Given the description of an element on the screen output the (x, y) to click on. 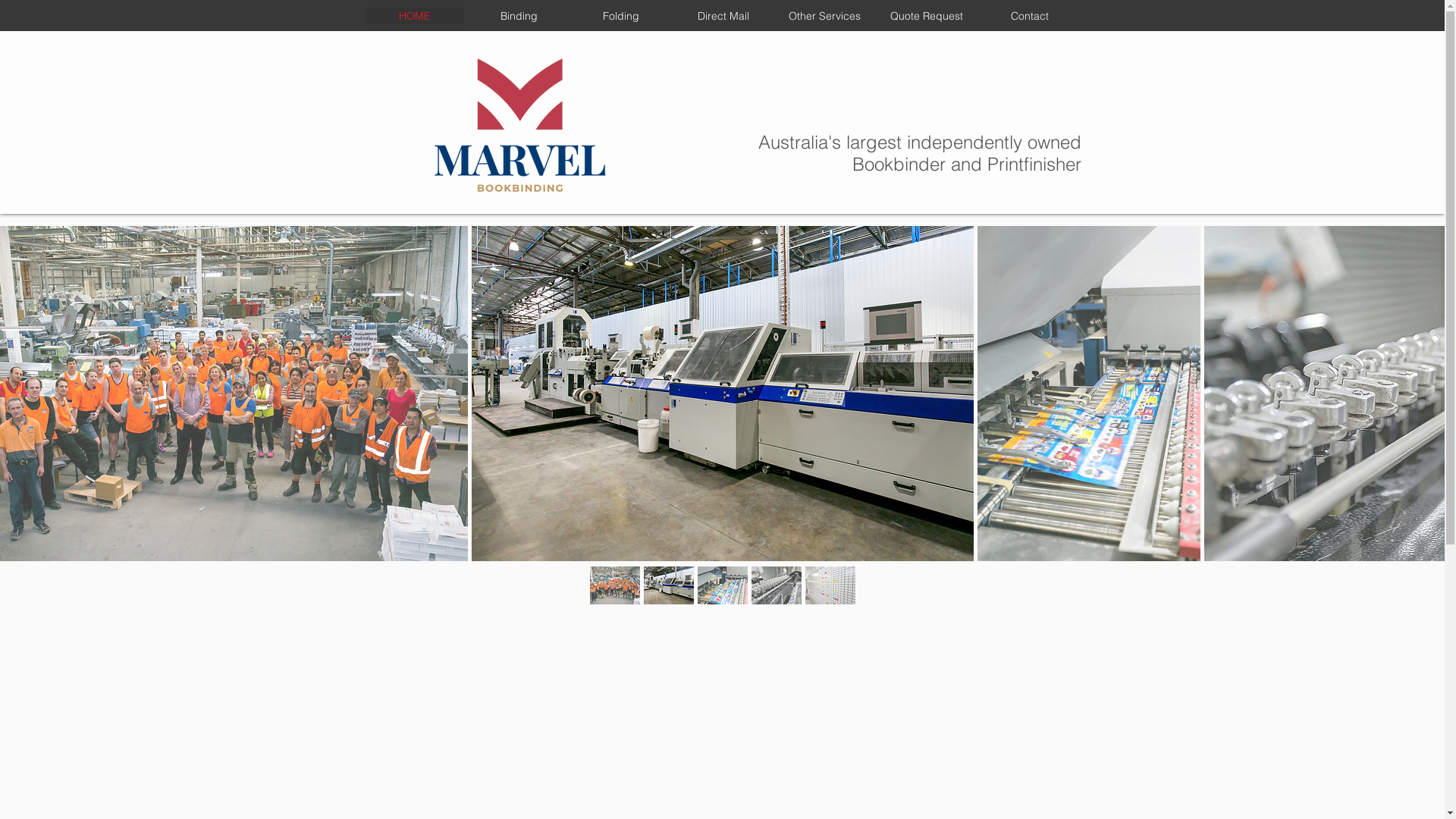
Quote Request Element type: text (925, 15)
HOME Element type: text (416, 15)
Folding Element type: text (621, 15)
Direct Mail Element type: text (722, 15)
Binding Element type: text (518, 15)
[Migrated] - Wonder Search Element type: hover (1002, 48)
Other Services Element type: text (824, 15)
Contact Element type: text (1027, 15)
